Given the description of an element on the screen output the (x, y) to click on. 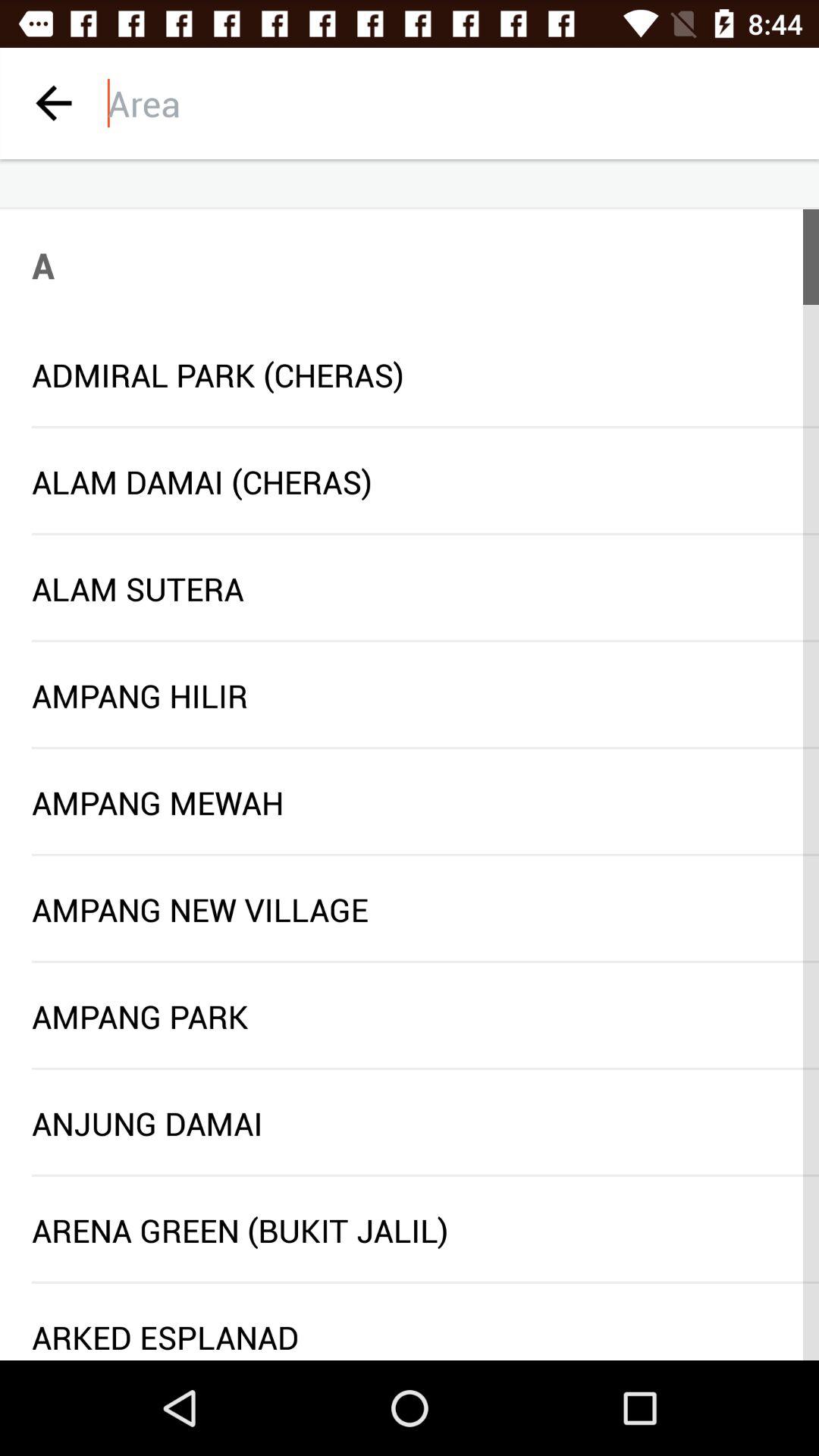
select icon above the ampang park item (425, 961)
